Given the description of an element on the screen output the (x, y) to click on. 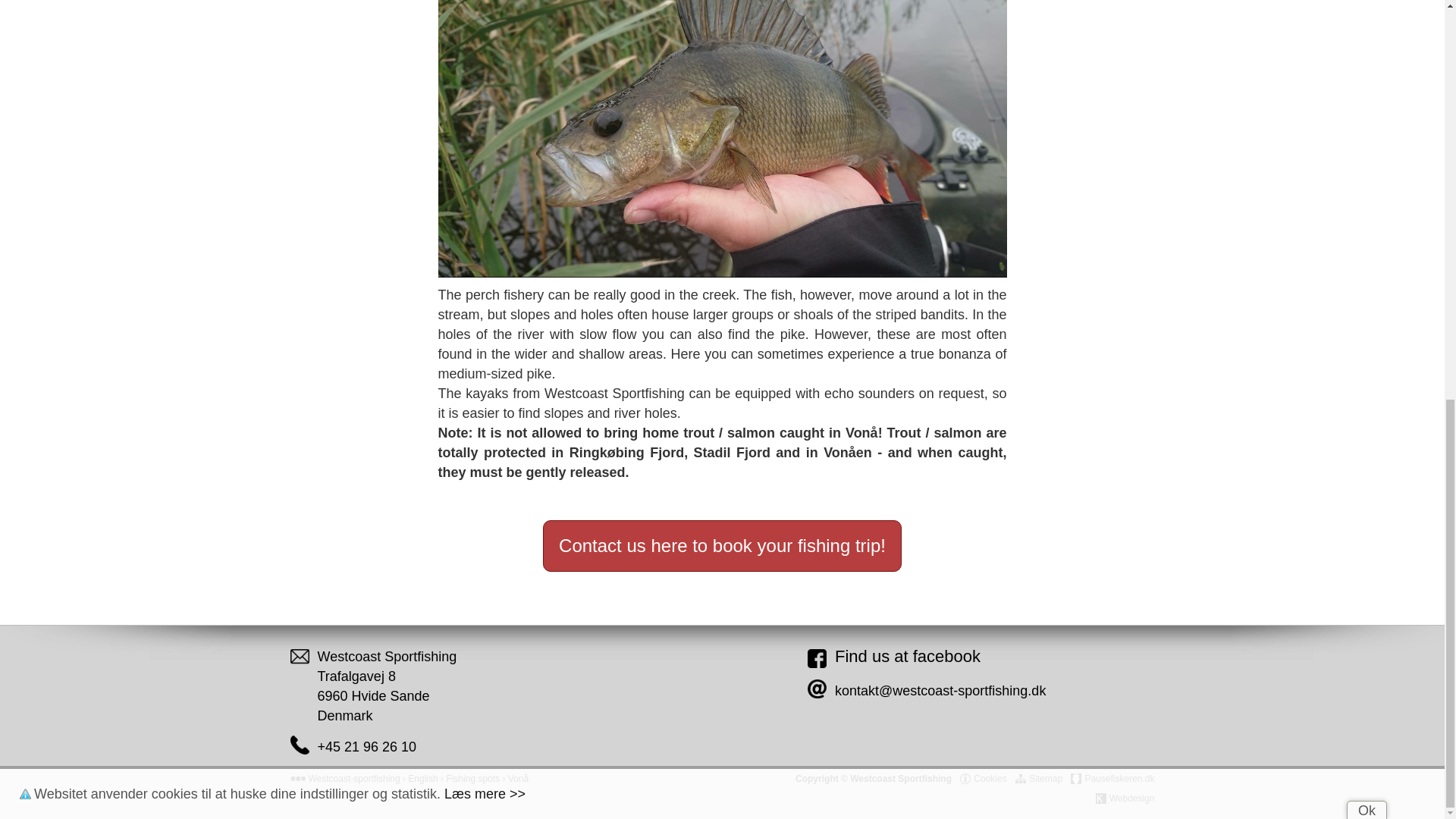
Cookies (982, 778)
Webdesign (1125, 798)
Pausefiskeren.dk (1112, 778)
Pausefiskeren.dk (1112, 778)
English (422, 778)
Sitemap (1038, 778)
Kasper Strube Webdesign (1125, 798)
Westcoast-sportfishing (352, 778)
Fishing spots (472, 778)
Fishing spots (472, 778)
